Given the description of an element on the screen output the (x, y) to click on. 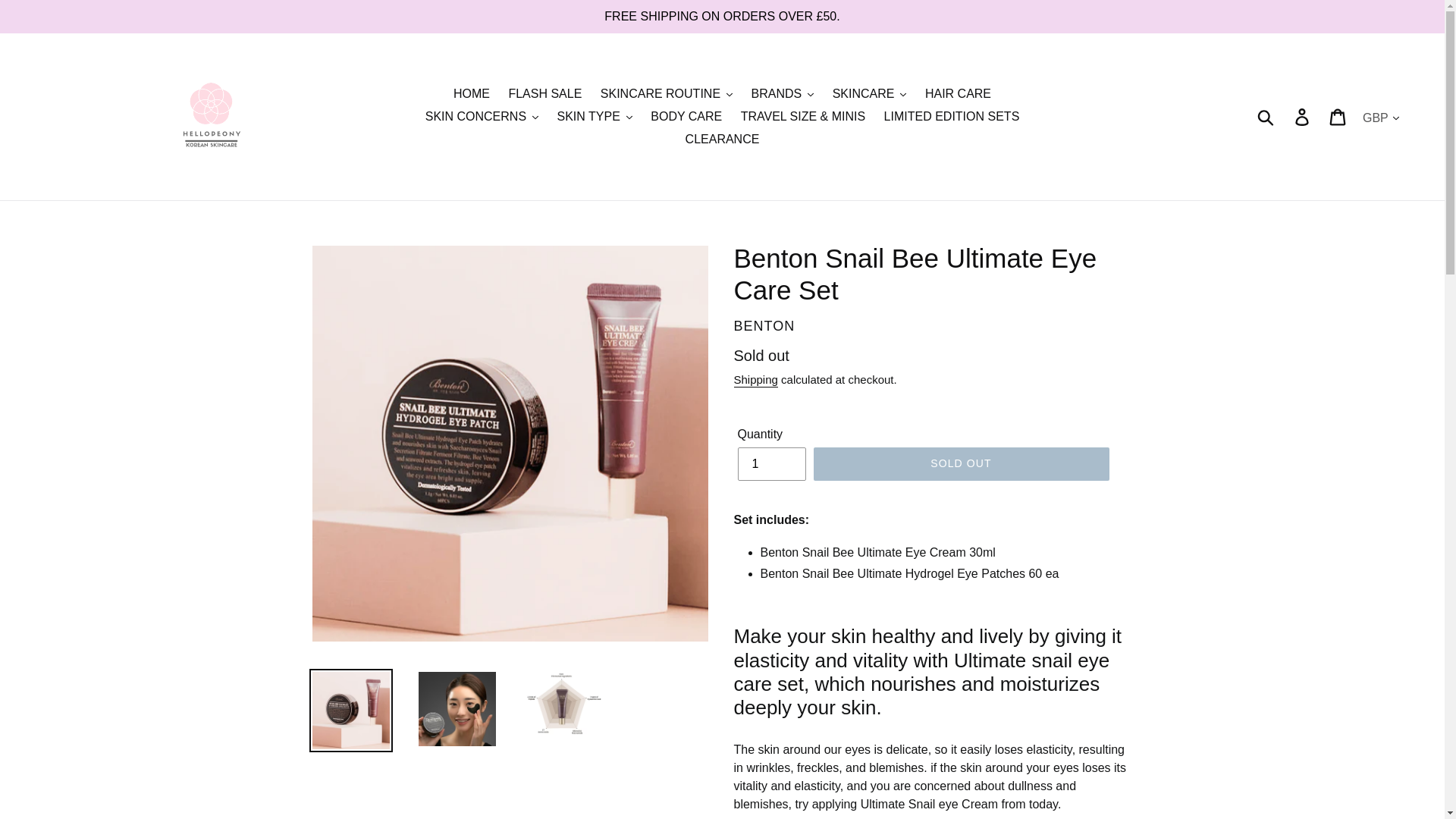
HOME (471, 93)
1 (770, 463)
FLASH SALE (544, 93)
